Given the description of an element on the screen output the (x, y) to click on. 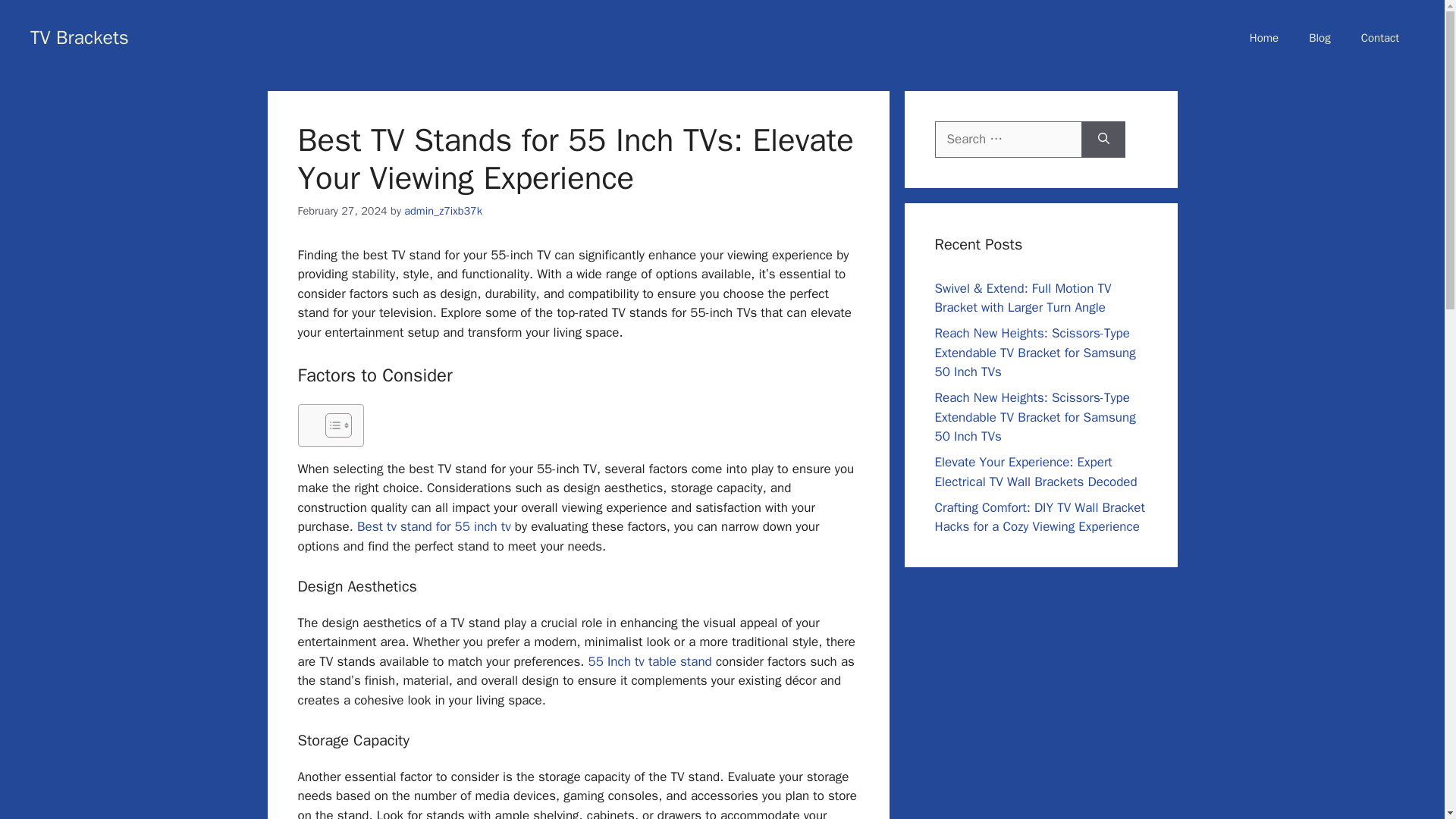
Contact (1379, 37)
55 Inch tv table stand (649, 661)
Home (1264, 37)
Search for: (1007, 139)
Best tv stand for 55 inch tv (432, 526)
TV Brackets (79, 37)
Blog (1319, 37)
